Given the description of an element on the screen output the (x, y) to click on. 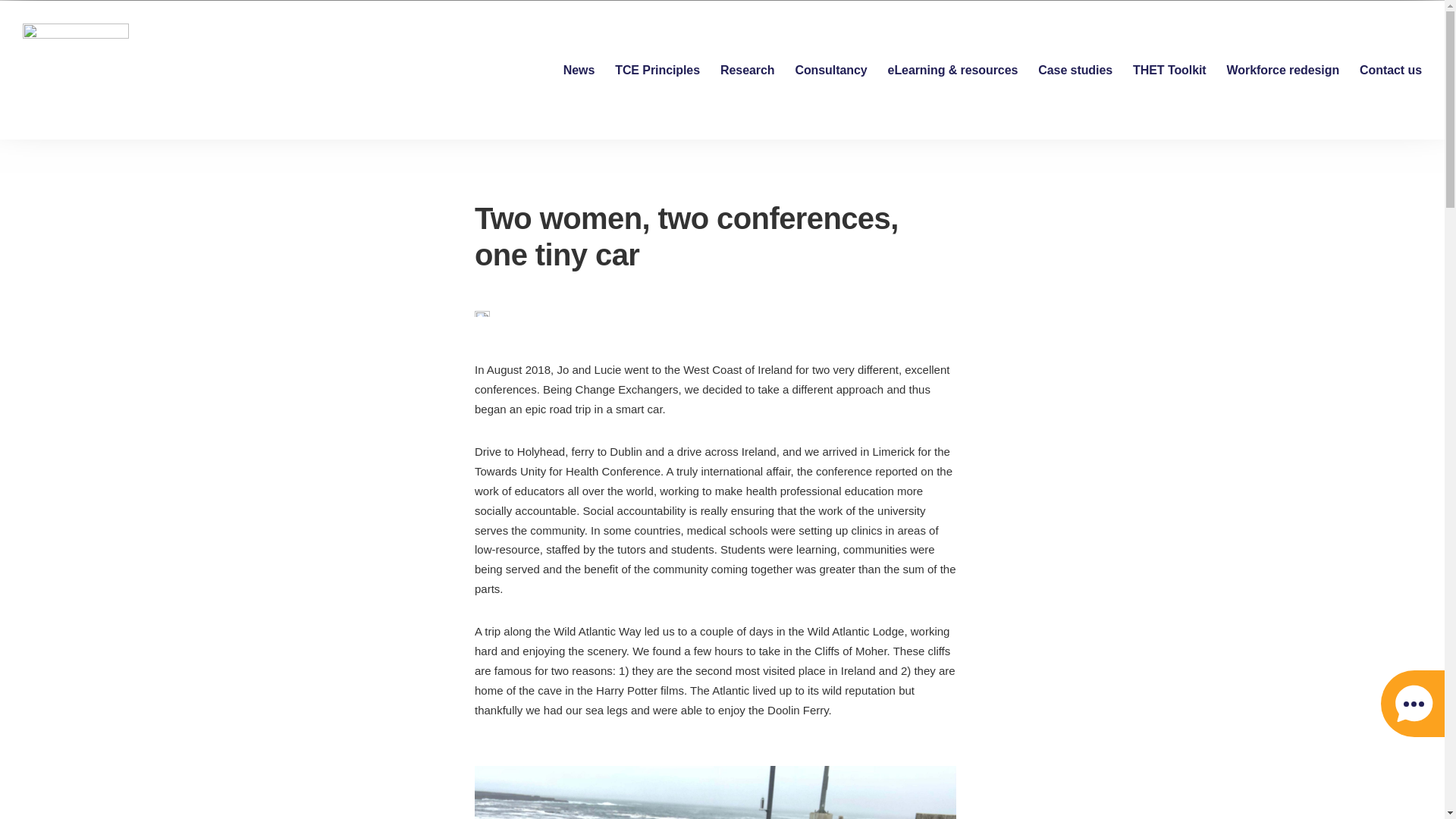
Case studies (1075, 70)
THET Toolkit (1169, 70)
Contact us (1390, 70)
News (578, 70)
Consultancy (830, 70)
Research (747, 70)
TCE Principles (657, 70)
Workforce redesign (1283, 70)
